Given the description of an element on the screen output the (x, y) to click on. 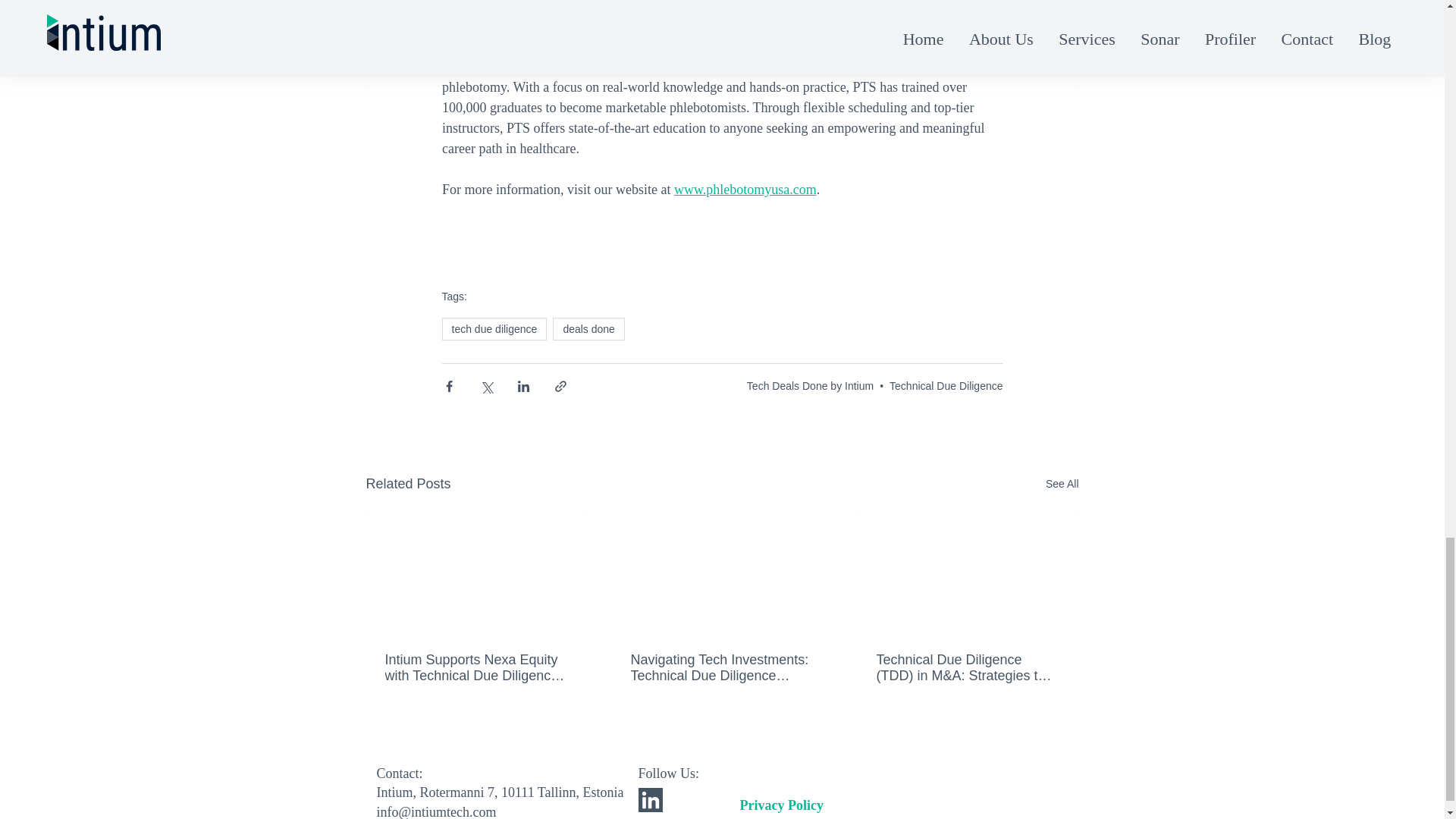
www.edencp.com. (723, 6)
deals done (588, 328)
Technical Due Diligence (946, 386)
www.phlebotomyusa.com (743, 189)
See All (1061, 484)
Tech Deals Done by Intium (809, 386)
tech due diligence (494, 328)
Contact: (398, 773)
